Given the description of an element on the screen output the (x, y) to click on. 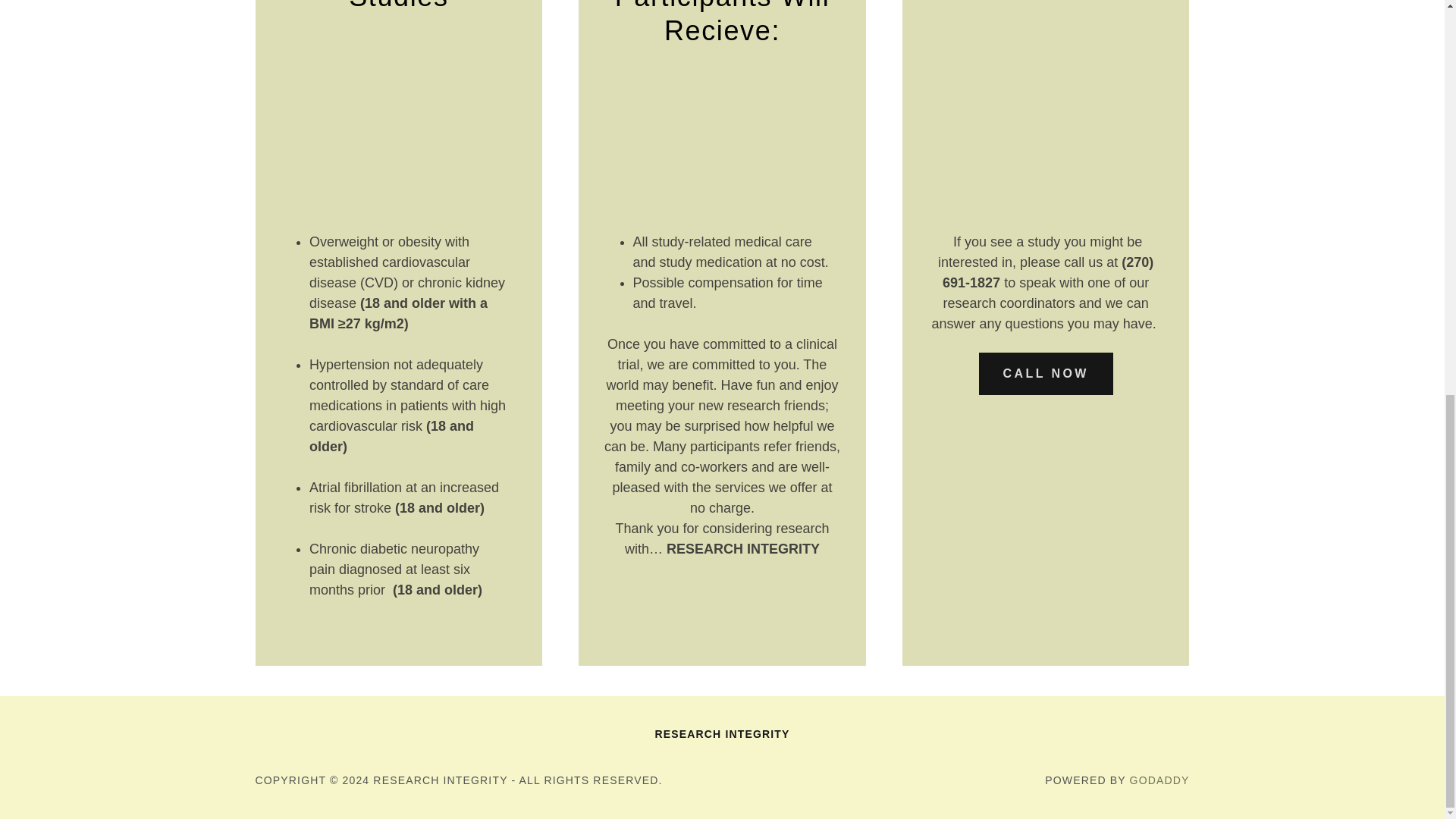
GODADDY (1159, 779)
CALL NOW (1045, 373)
ACCEPT (1274, 381)
